Given the description of an element on the screen output the (x, y) to click on. 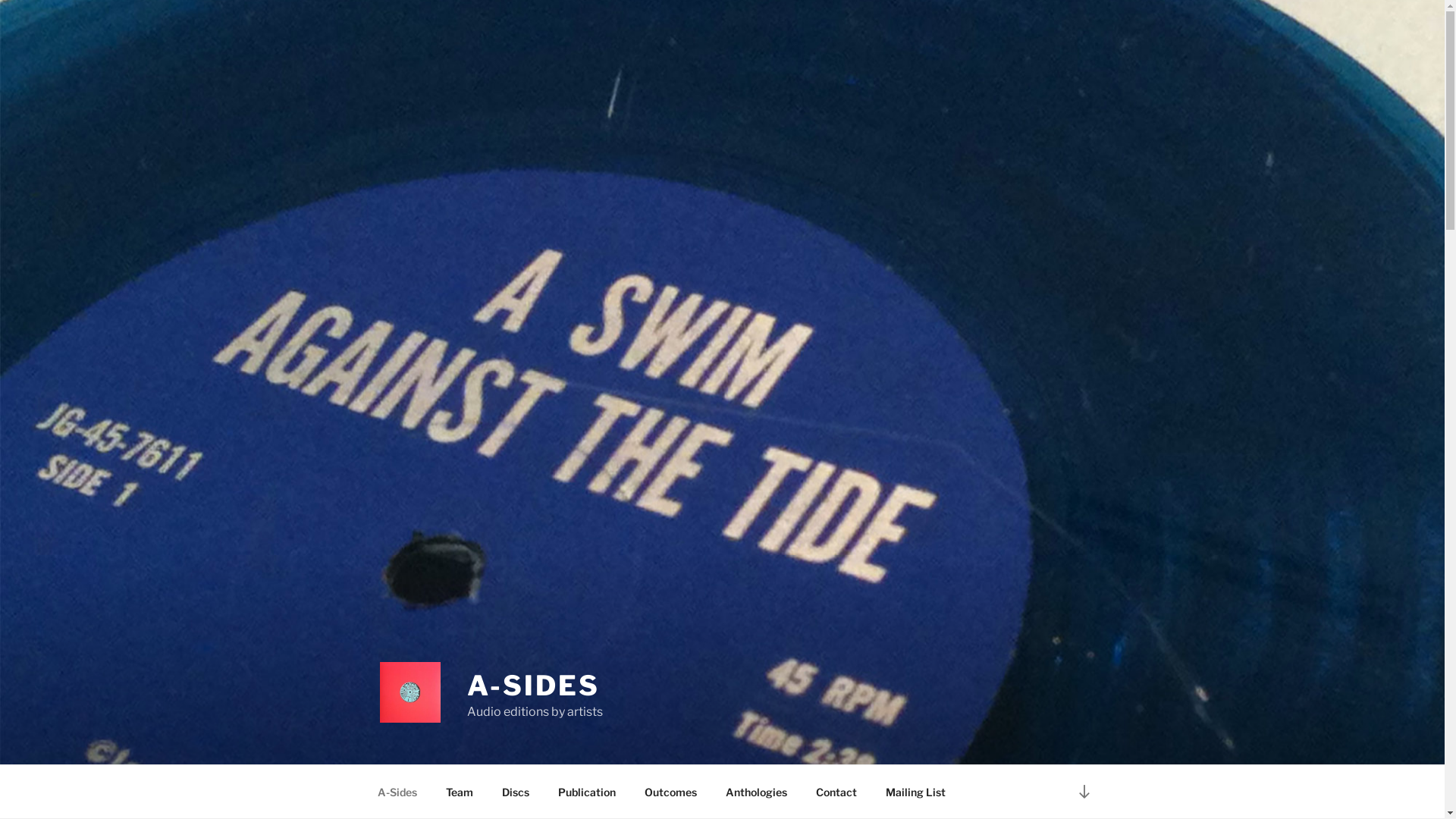
Publication Element type: text (586, 791)
A-SIDES Element type: text (533, 685)
Team Element type: text (459, 791)
Outcomes Element type: text (669, 791)
Scroll down to content Element type: text (1083, 790)
Anthologies Element type: text (756, 791)
A-Sides Element type: text (396, 791)
Contact Element type: text (835, 791)
Mailing List Element type: text (915, 791)
Discs Element type: text (515, 791)
